Given the description of an element on the screen output the (x, y) to click on. 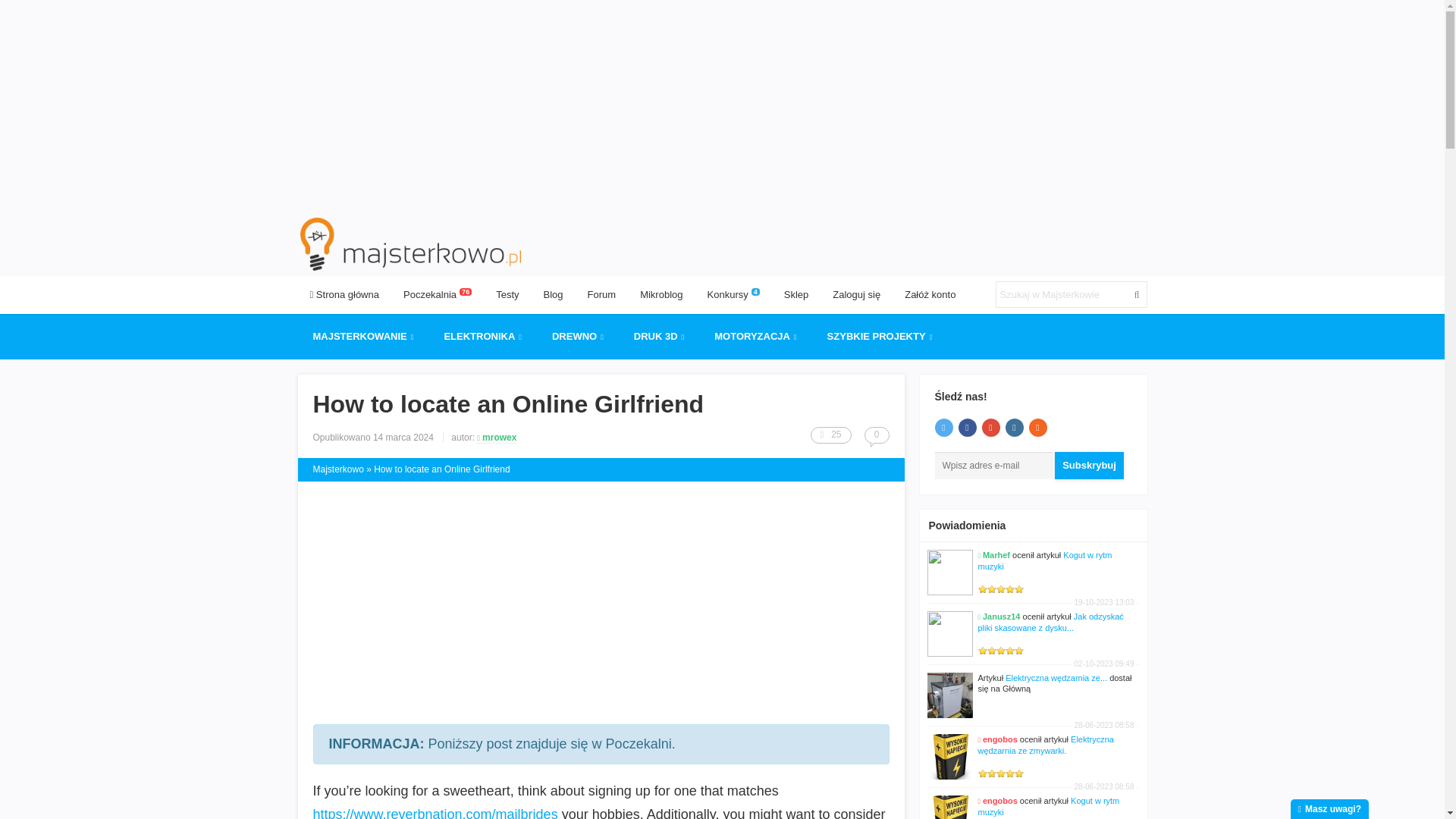
Testy (507, 294)
Sklep (796, 294)
Poczekalnia76 (437, 294)
Mikroblog (660, 294)
Konkursy (733, 294)
Blog (553, 294)
Forum (601, 294)
